Given the description of an element on the screen output the (x, y) to click on. 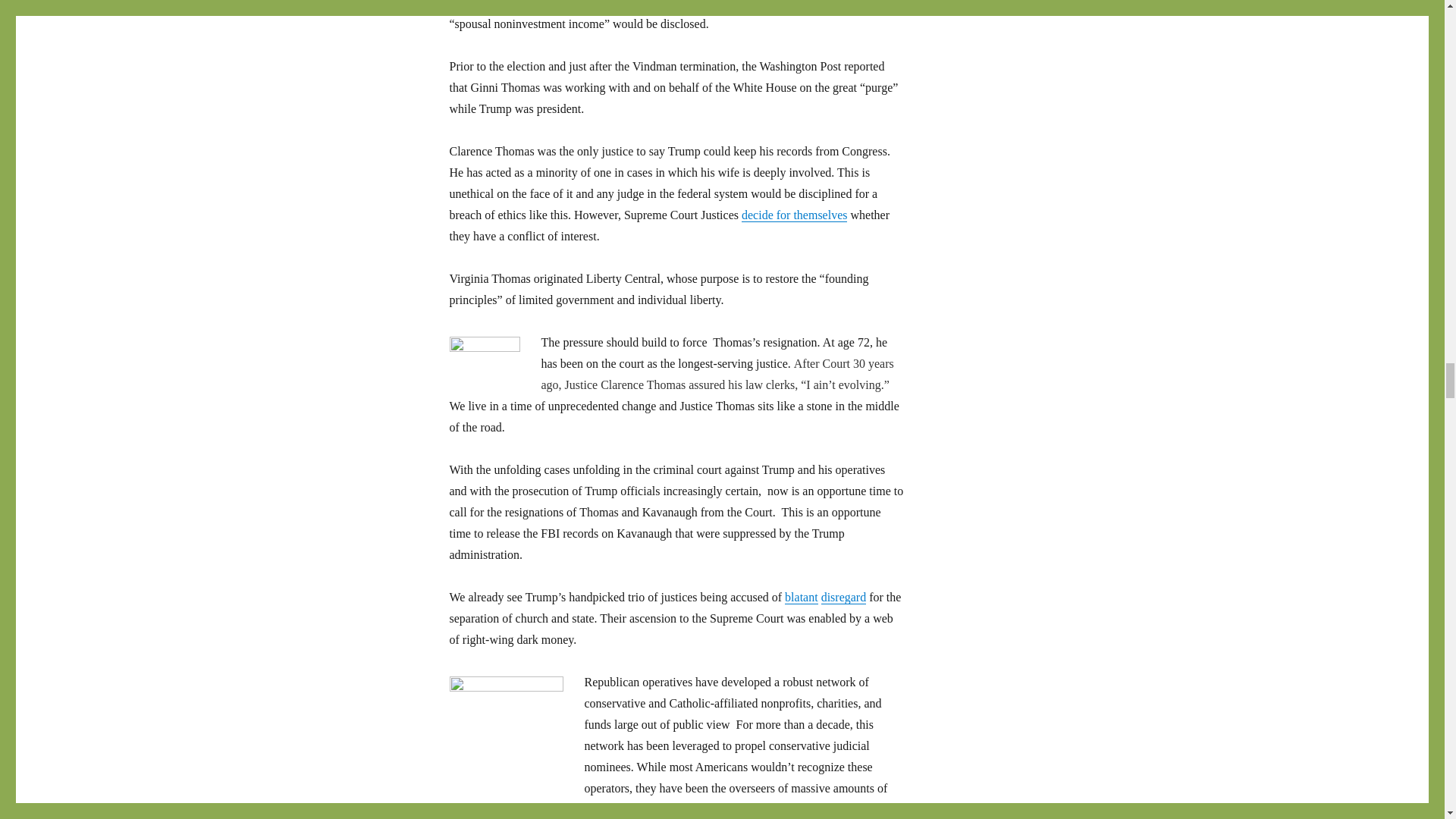
disregard (843, 596)
blatant (801, 596)
decide for themselves (794, 214)
